Given the description of an element on the screen output the (x, y) to click on. 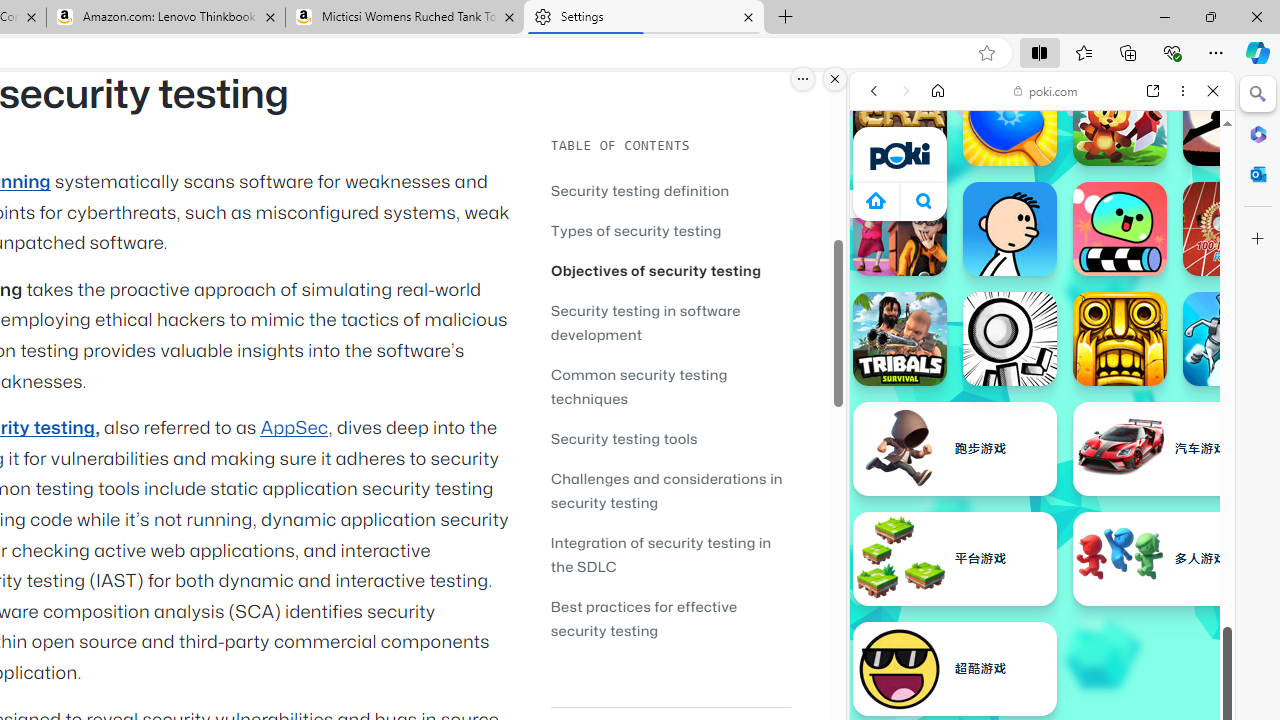
Challenges and considerations in security testing (670, 489)
The Speed Ninja The Speed Ninja (1229, 119)
Class: B_5ykBA46kDOxiz_R9wm (923, 200)
Class: aprWdaSScyiJf4Jvmsx9 (875, 200)
Car Games (1042, 469)
Sports Games (1042, 665)
Io Games (1042, 616)
Tribals.io Tribals.io (899, 338)
